Given the description of an element on the screen output the (x, y) to click on. 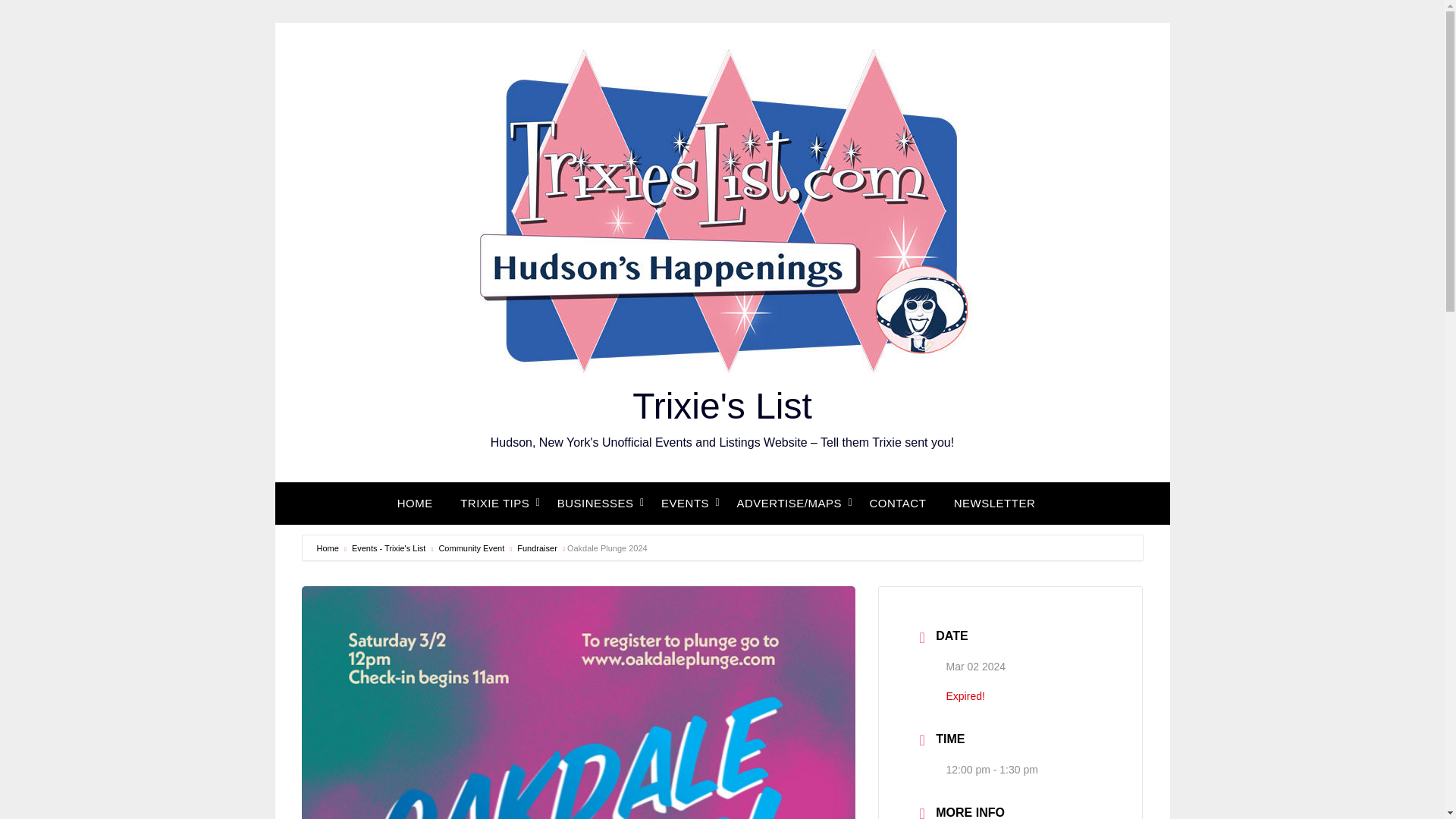
CONTACT (897, 503)
Fundraiser (535, 547)
TRIXIE TIPS (494, 503)
Community Event (469, 547)
NEWSLETTER (995, 503)
EVENTS (684, 503)
Events - Trixie's List (387, 547)
Trixie's List (721, 405)
BUSINESSES (595, 503)
Home (327, 547)
HOME (421, 503)
